Given the description of an element on the screen output the (x, y) to click on. 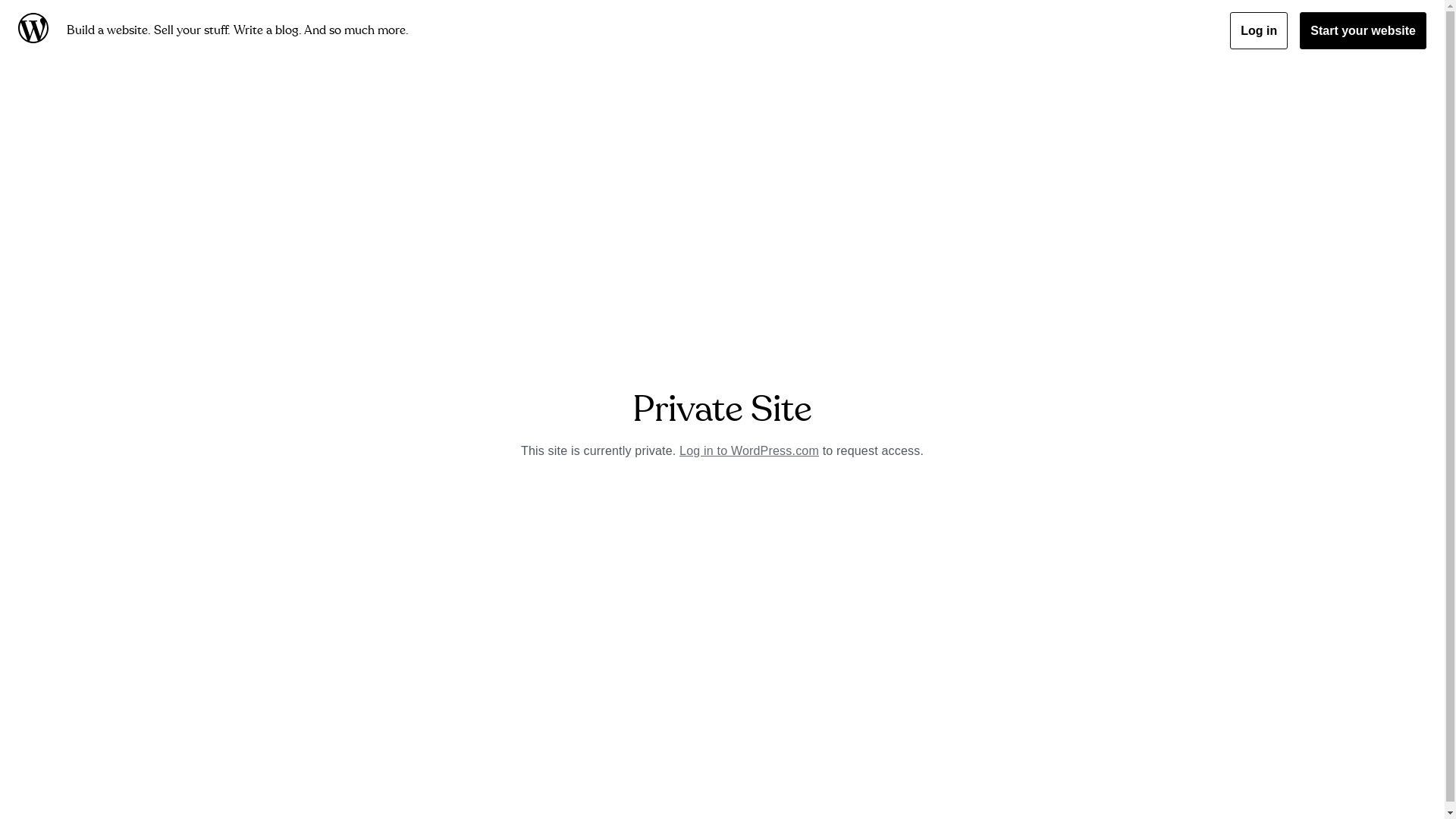
WordPress.com Element type: text (36, 30)
Start your website Element type: text (1362, 30)
Log in to WordPress.com Element type: text (749, 450)
Log in Element type: text (1258, 30)
